Given the description of an element on the screen output the (x, y) to click on. 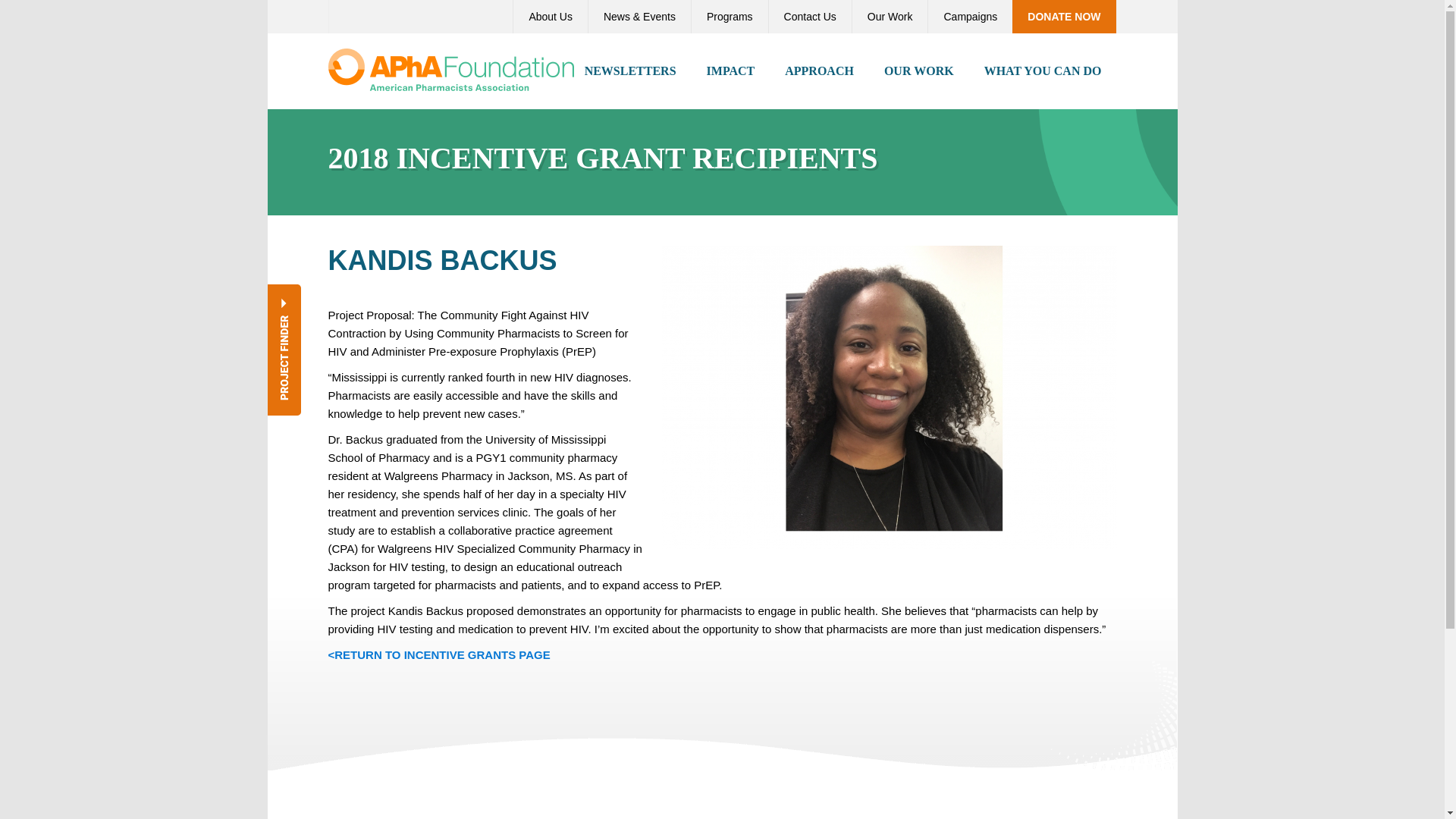
Home (450, 68)
About Us (550, 16)
What You Can Do (1042, 71)
NEWSLETTERS (630, 71)
WHAT YOU CAN DO (1042, 71)
Donate Now (1063, 16)
DONATE NOW (1063, 16)
Approach (819, 71)
APPROACH (819, 71)
IMPACT (730, 71)
Newsletters (630, 71)
Programs (729, 16)
OUR WORK (919, 71)
Campaigns (969, 16)
Contact Us (809, 16)
